Given the description of an element on the screen output the (x, y) to click on. 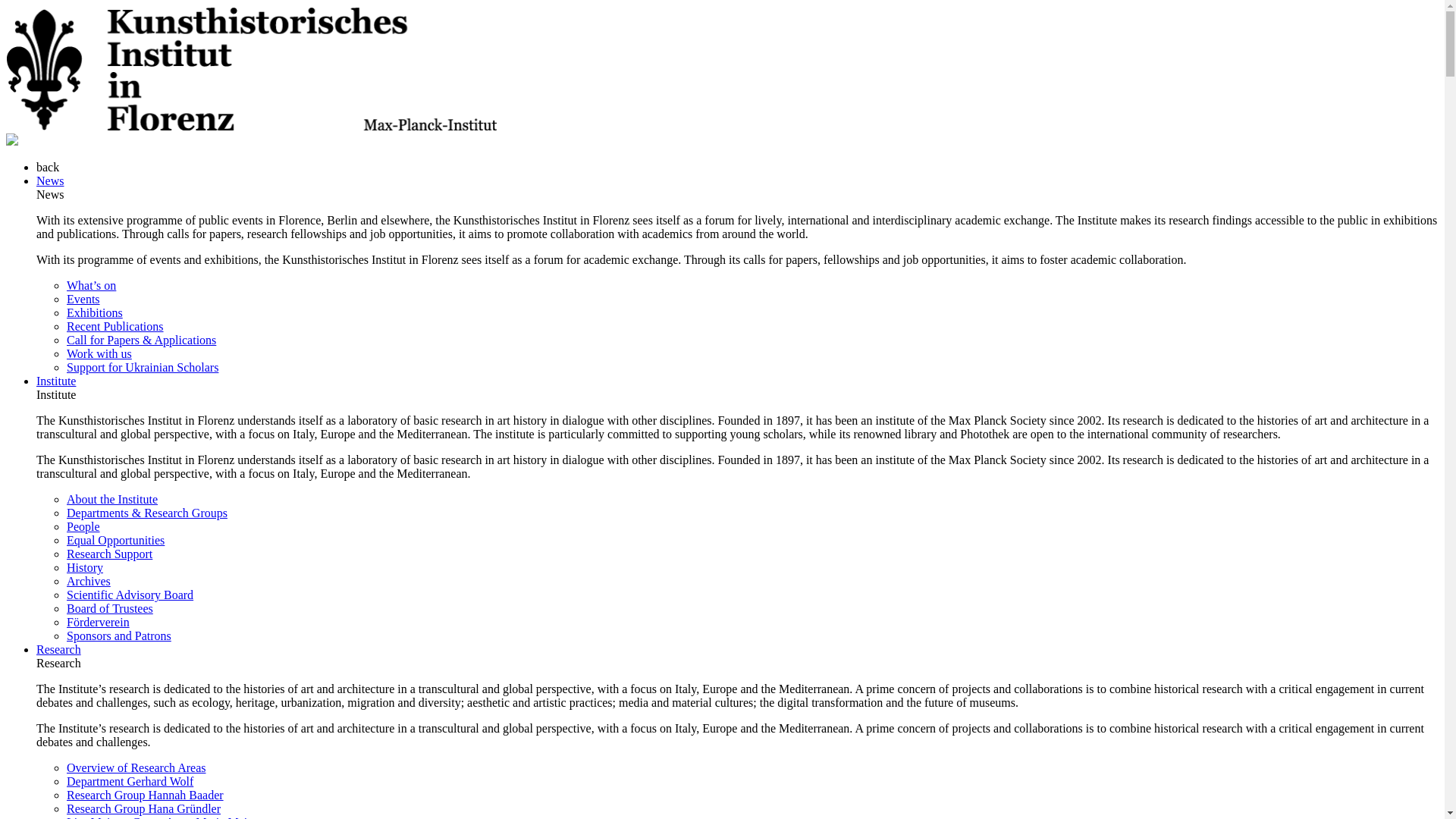
Equal Opportunities (115, 540)
Work with us (99, 353)
Board of Trustees (109, 608)
Research (58, 649)
Scientific Advisory Board (129, 594)
Recent Publications (114, 326)
Lise Meitner Group Anna-Maria Meister (165, 817)
Research Support (109, 553)
Support for Ukrainian Scholars (142, 367)
Exhibitions (94, 312)
